Given the description of an element on the screen output the (x, y) to click on. 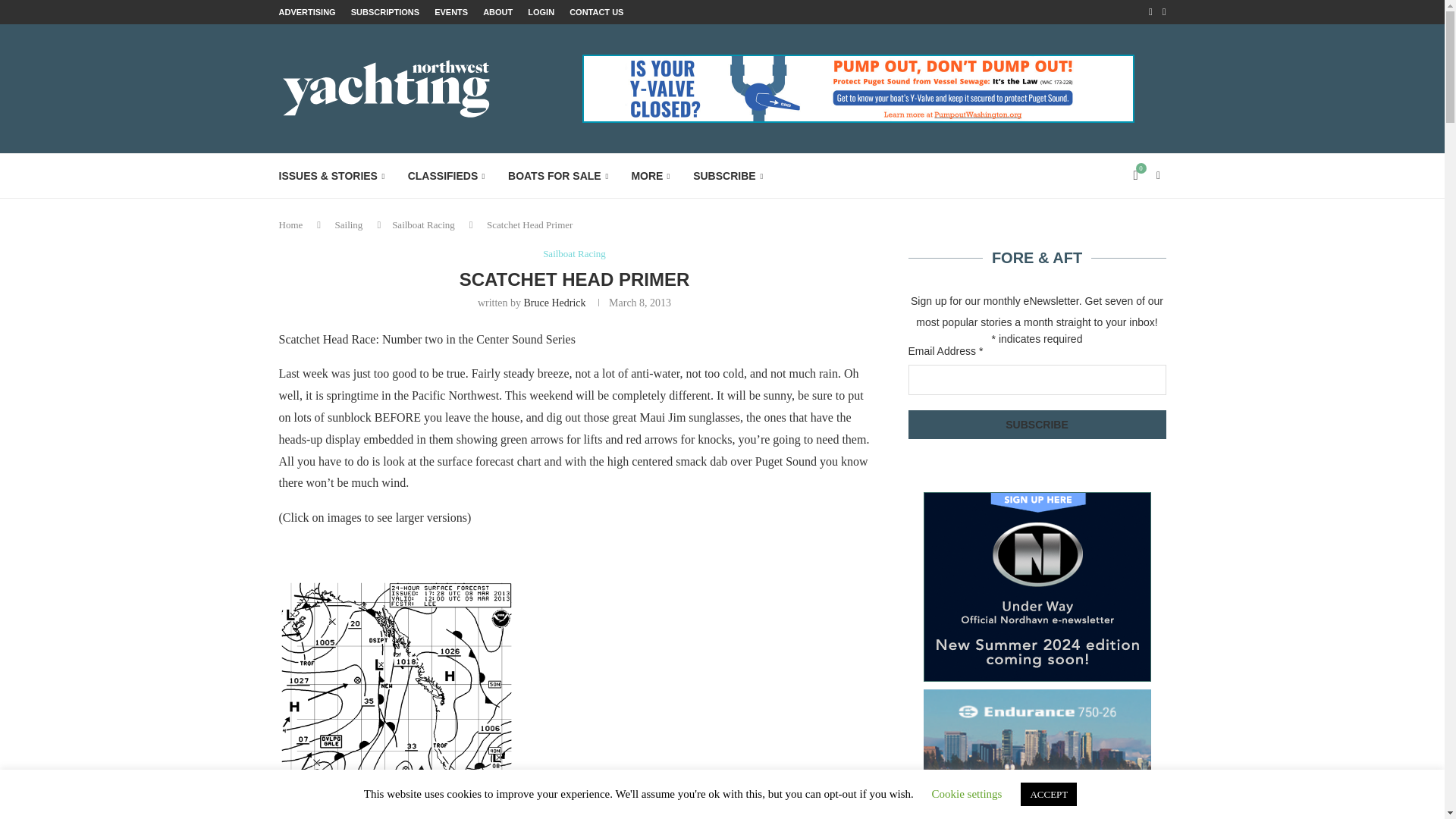
Subscribe (1037, 424)
EVENTS (450, 12)
SUBSCRIPTIONS (384, 12)
CONTACT US (596, 12)
LOGIN (540, 12)
BOATS FOR SALE (558, 176)
CLASSIFIEDS (445, 176)
ABOUT (497, 12)
ADVERTISING (307, 12)
